Given the description of an element on the screen output the (x, y) to click on. 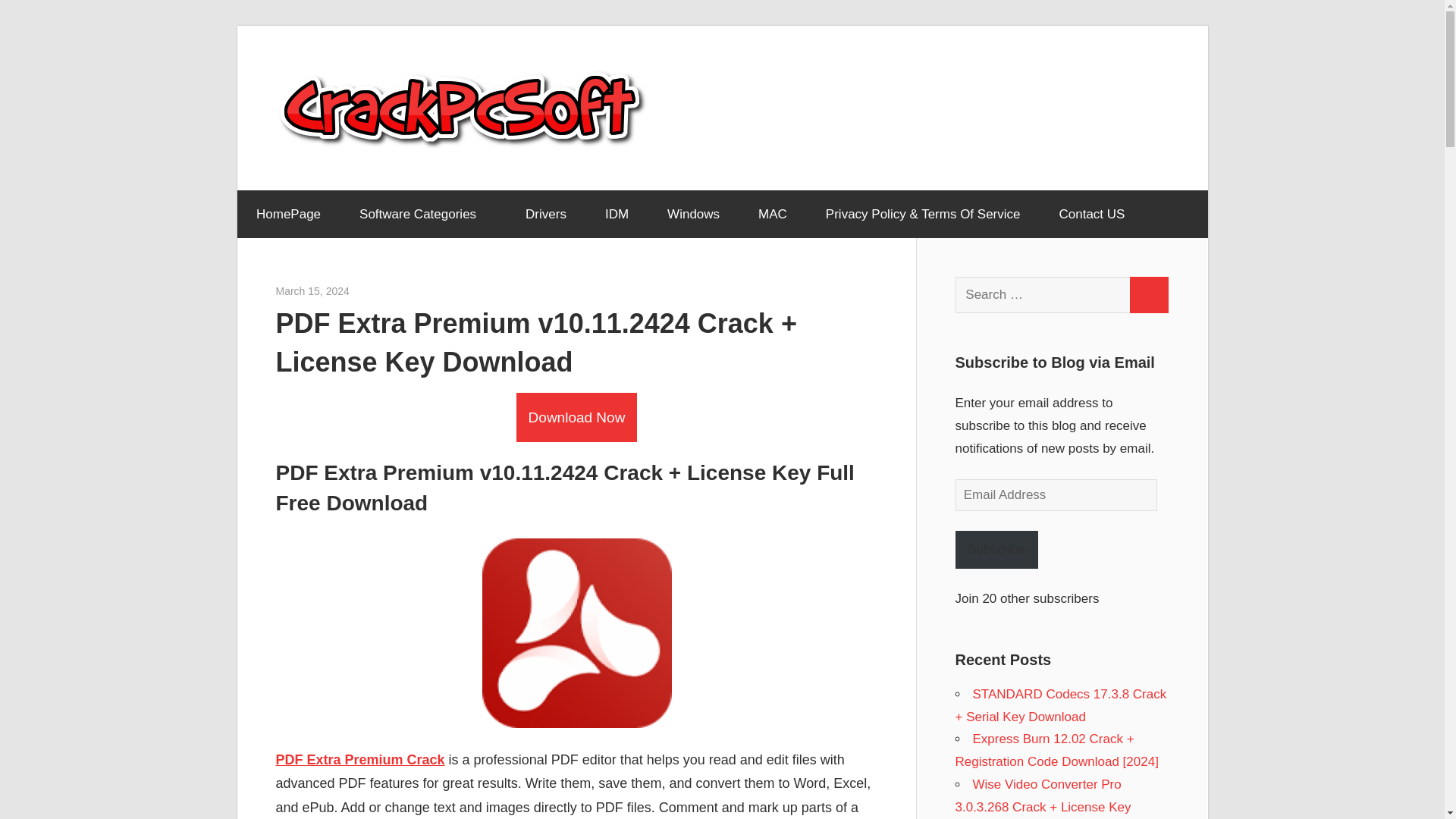
abihaadmin (376, 291)
View all posts by abihaadmin (376, 291)
March 15, 2024 (312, 291)
Drivers (546, 213)
Download Now (576, 417)
MAC (772, 213)
HomePage (287, 213)
IDM (616, 213)
Contact US (1091, 213)
8:52 am (312, 291)
Download Now (576, 417)
PDF Extra Premium Crack (360, 759)
Windows (693, 213)
Software Categories (423, 213)
